Given the description of an element on the screen output the (x, y) to click on. 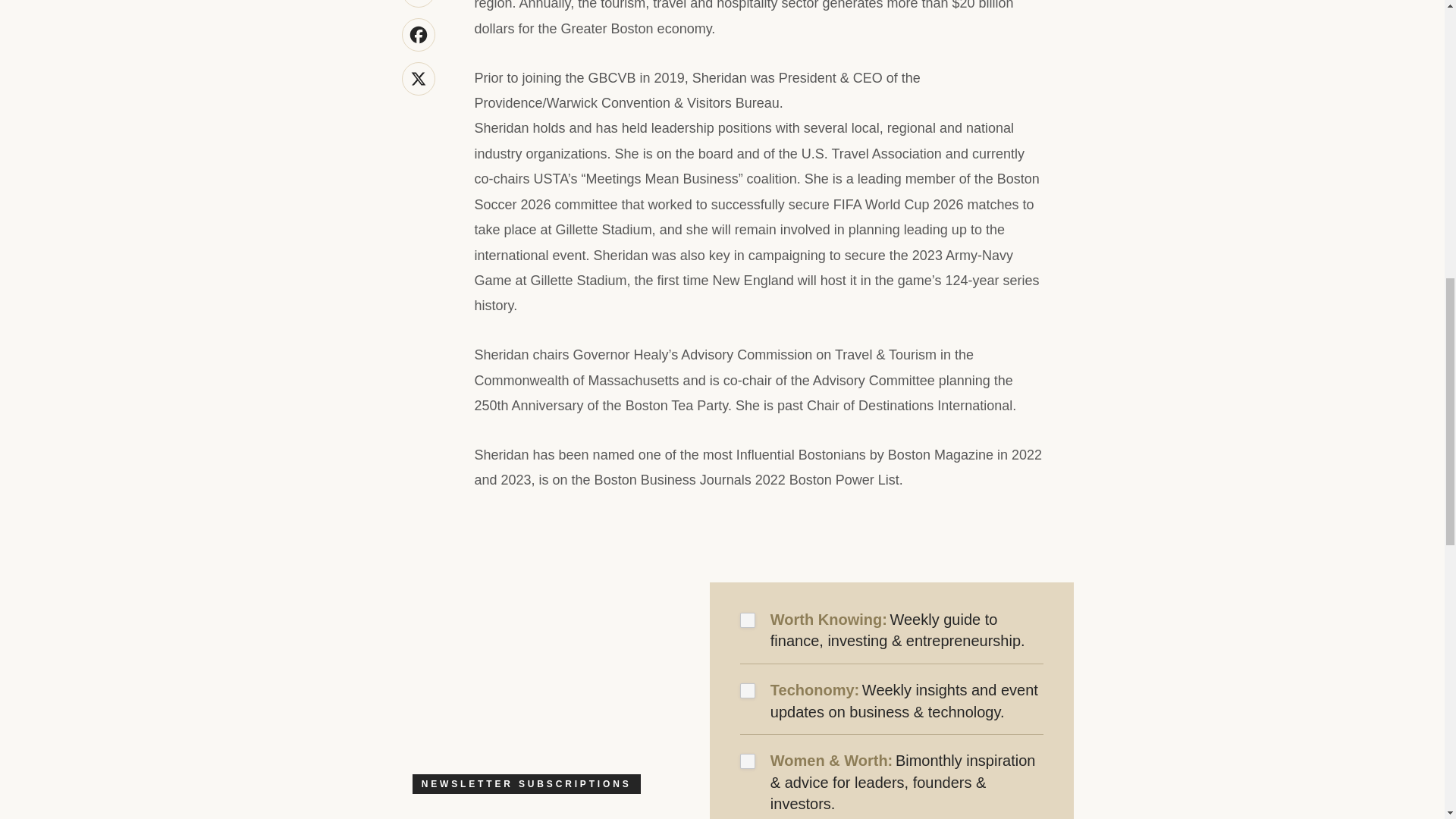
Linkedin (418, 3)
yes (747, 761)
yes (747, 690)
yes (747, 620)
X (418, 78)
Facebook (418, 34)
